Given the description of an element on the screen output the (x, y) to click on. 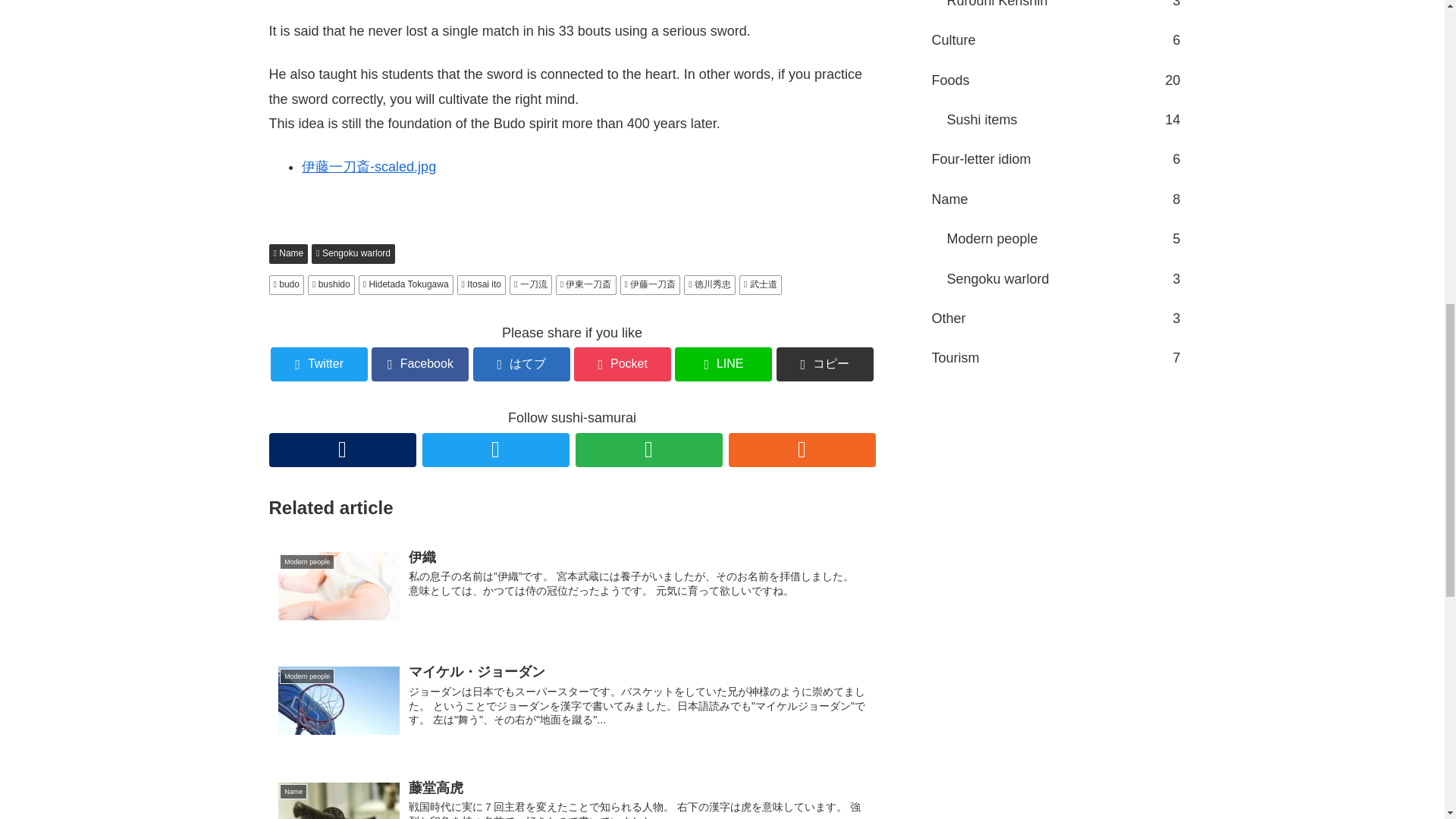
Ittosai Ito (521, 364)
Sengoku warlord (352, 253)
bushido (331, 284)
Itosai ito (481, 284)
budo (284, 284)
Twitter (319, 364)
Hidetada Tokugawa (405, 284)
Facebook (419, 364)
Name (287, 253)
